Given the description of an element on the screen output the (x, y) to click on. 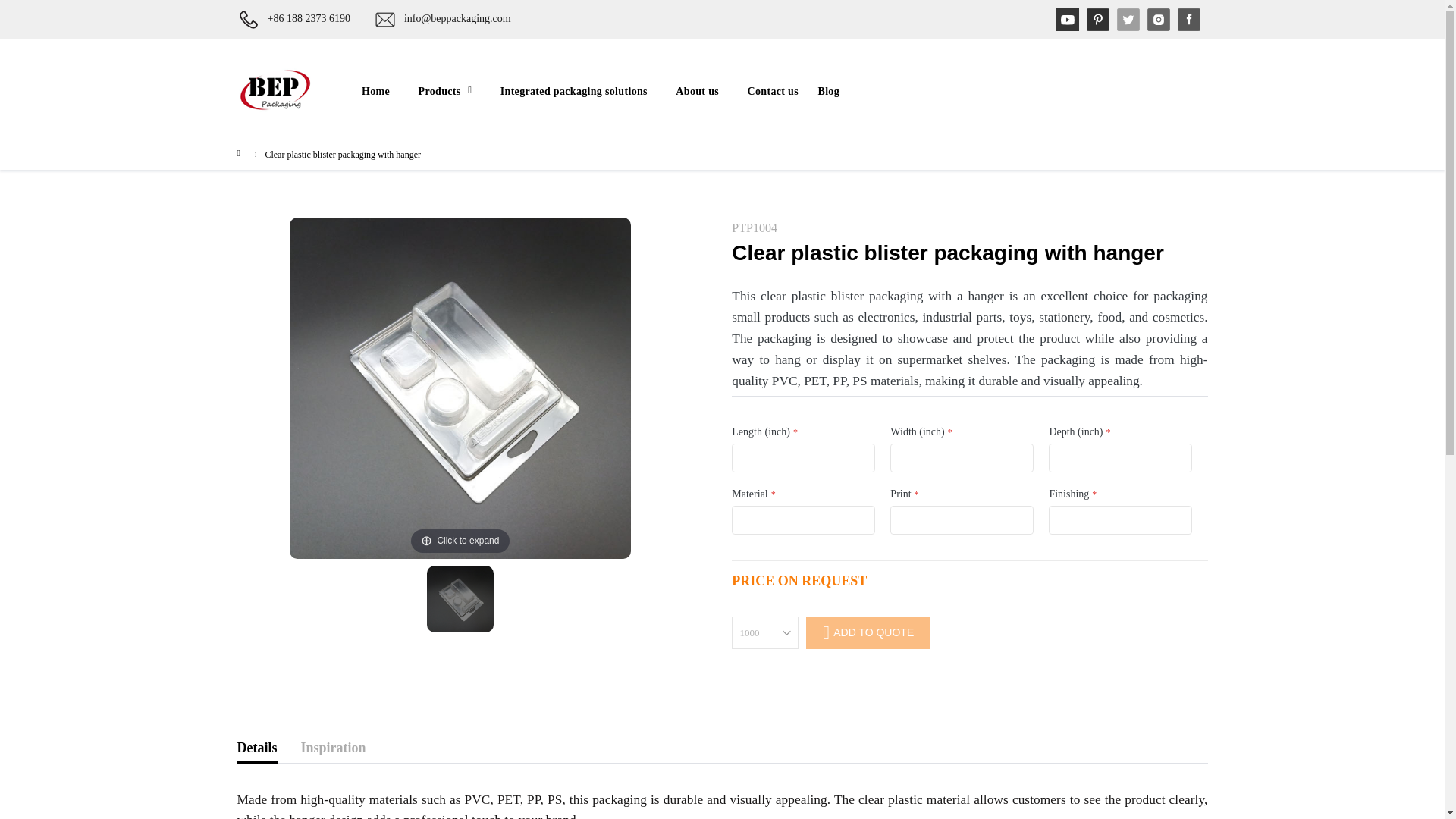
Home (379, 90)
Add to Quote (868, 632)
Blog (828, 90)
Products (445, 90)
Clear plastic blister packaging with hanger (459, 598)
Blog (828, 90)
Contact us (767, 90)
Pinterest (1097, 19)
Facebook (1187, 19)
Integrated packaging solutions (574, 90)
Youtube (1066, 19)
Contact us (767, 90)
Details (255, 749)
Integrated packaging solutions (574, 90)
About us (697, 90)
